Given the description of an element on the screen output the (x, y) to click on. 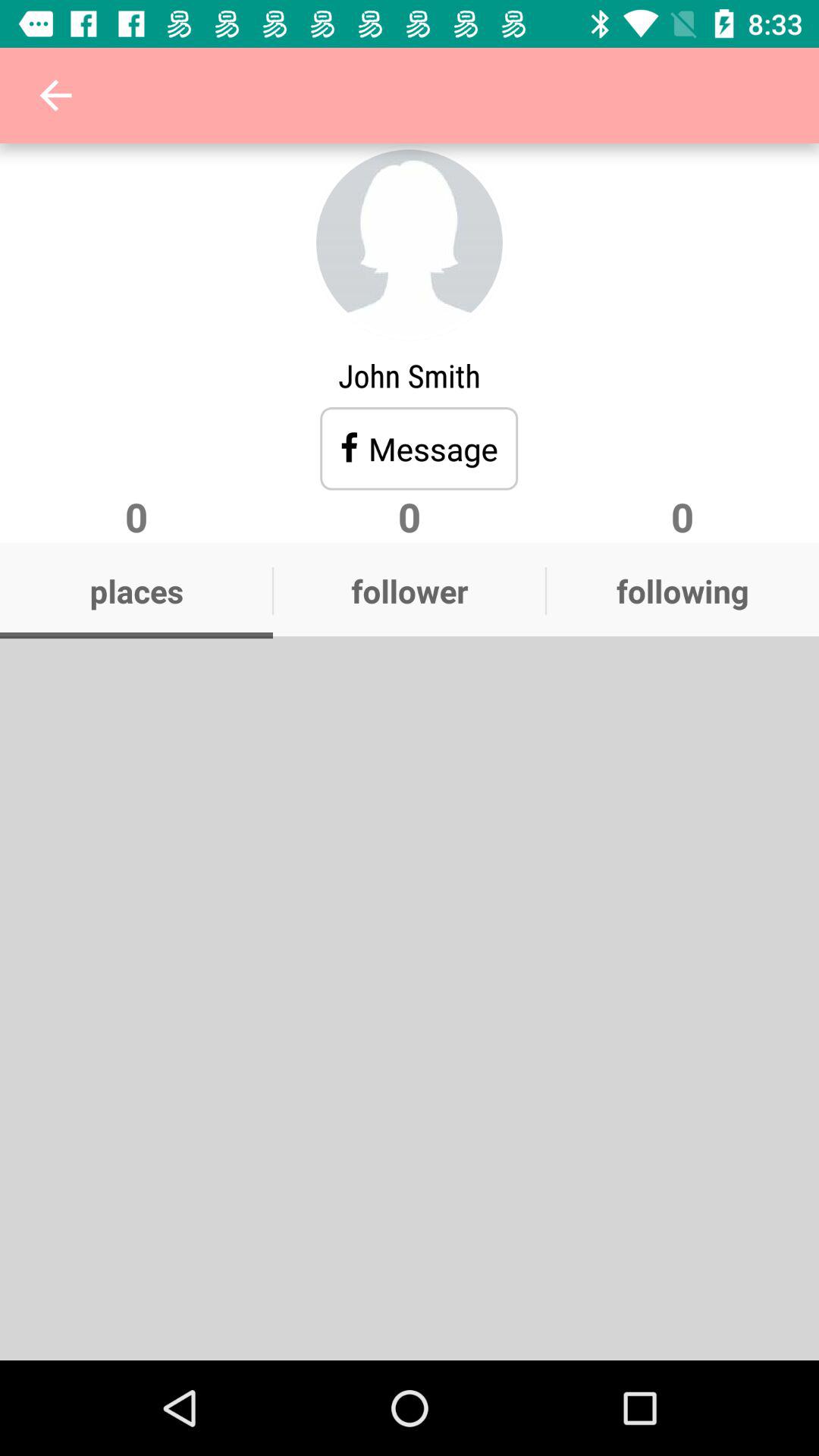
select the icon to the right of the places app (409, 590)
